Given the description of an element on the screen output the (x, y) to click on. 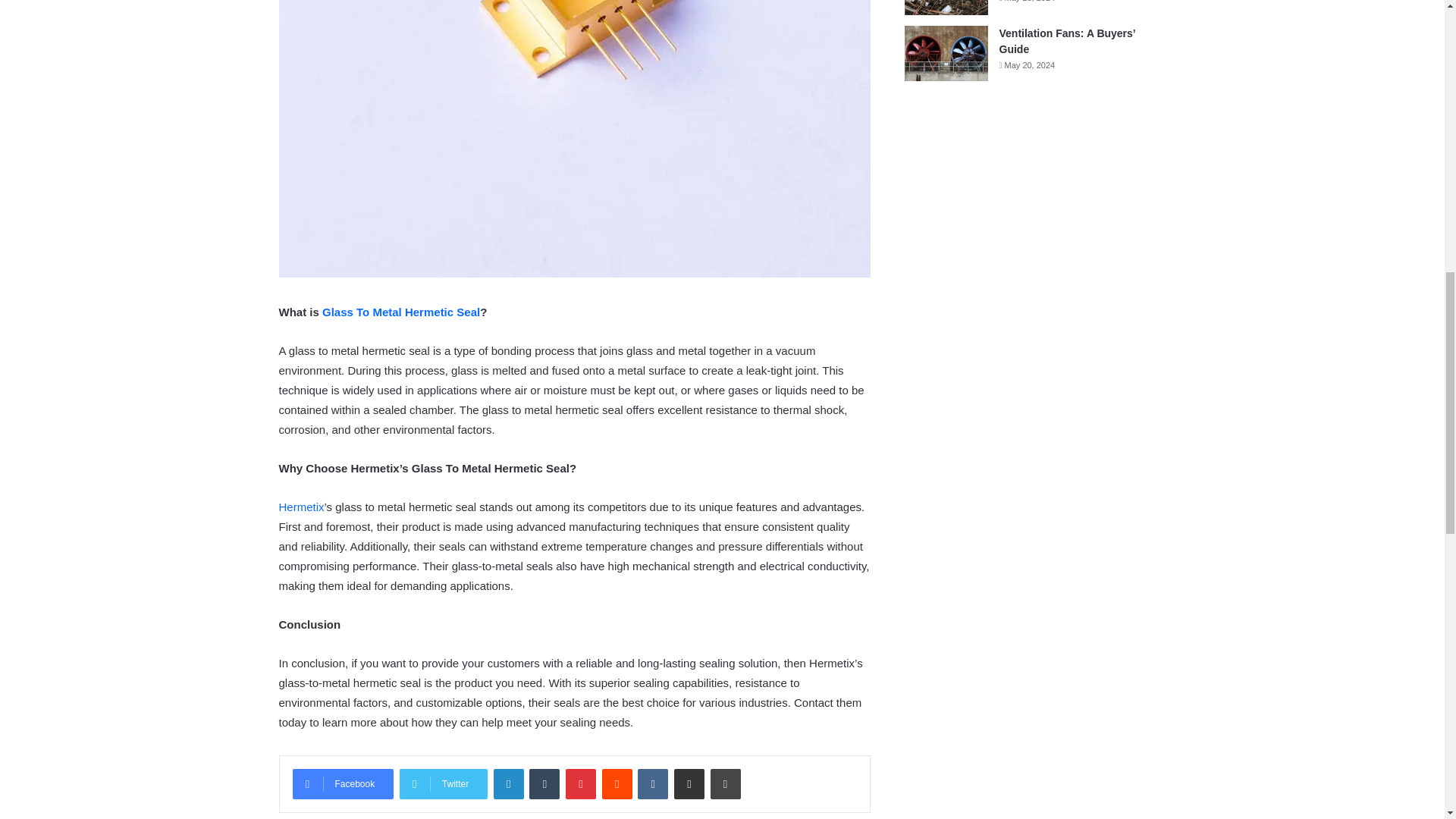
LinkedIn (508, 784)
Share via Email (689, 784)
Hermetix (301, 506)
Twitter (442, 784)
Reddit (616, 784)
Tumblr (544, 784)
Pinterest (580, 784)
VKontakte (652, 784)
Glass To Metal Hermetic Seal (400, 311)
LinkedIn (508, 784)
Share via Email (689, 784)
Print (725, 784)
VKontakte (652, 784)
Facebook (343, 784)
Facebook (343, 784)
